Given the description of an element on the screen output the (x, y) to click on. 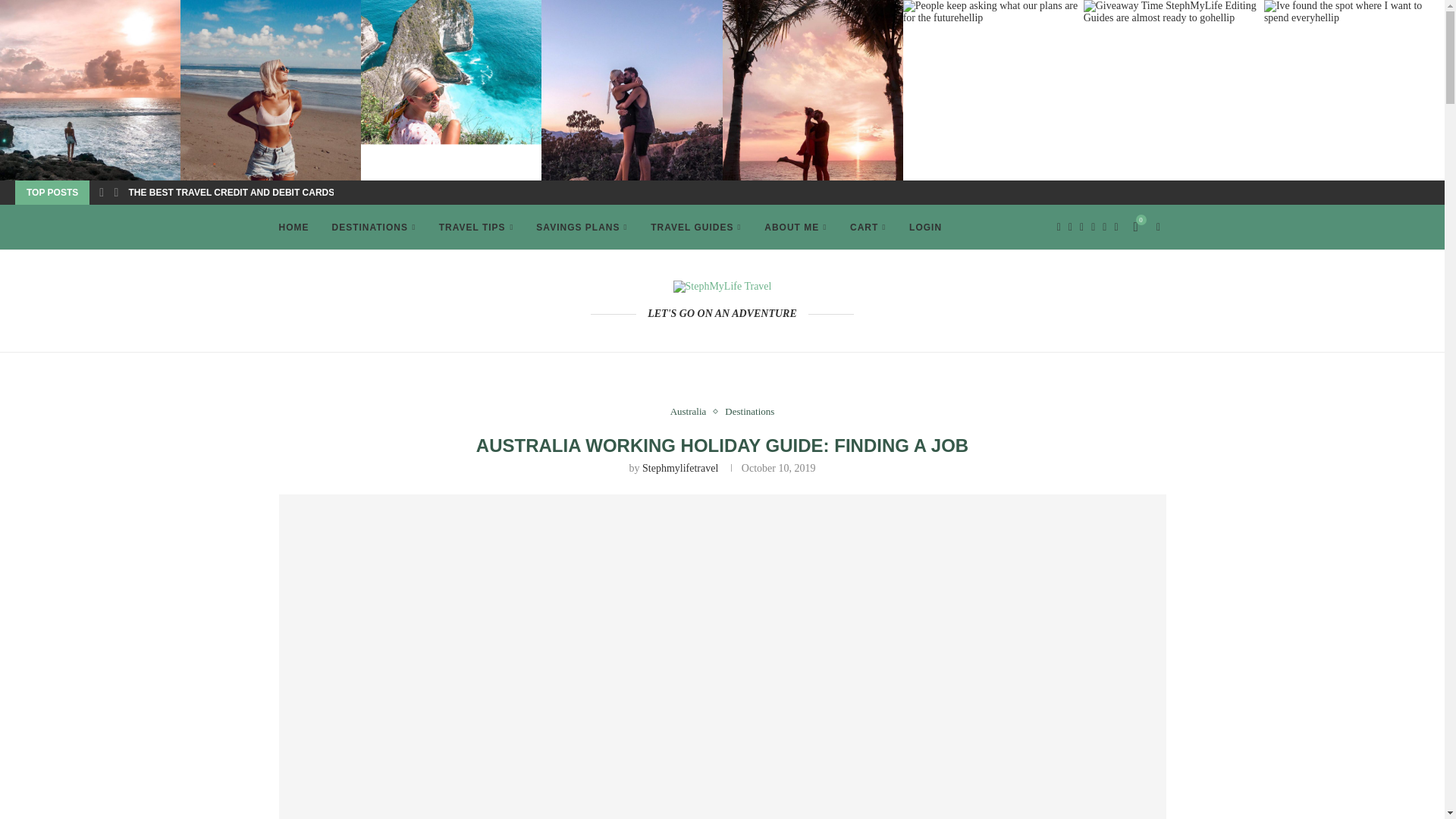
ABOUT ME (795, 227)
People keep asking what our plans are for the futurehellip (992, 12)
TRAVEL TIPS (476, 227)
SAVINGS PLANS (581, 227)
Ive realised I spend most of my time confused abouthellip (90, 90)
TRAVEL GUIDES (695, 227)
THE BEST TRAVEL CREDIT AND DEBIT CARDS FOR... (245, 192)
My favourite time of day with my favourite person hellip (631, 90)
